Given the description of an element on the screen output the (x, y) to click on. 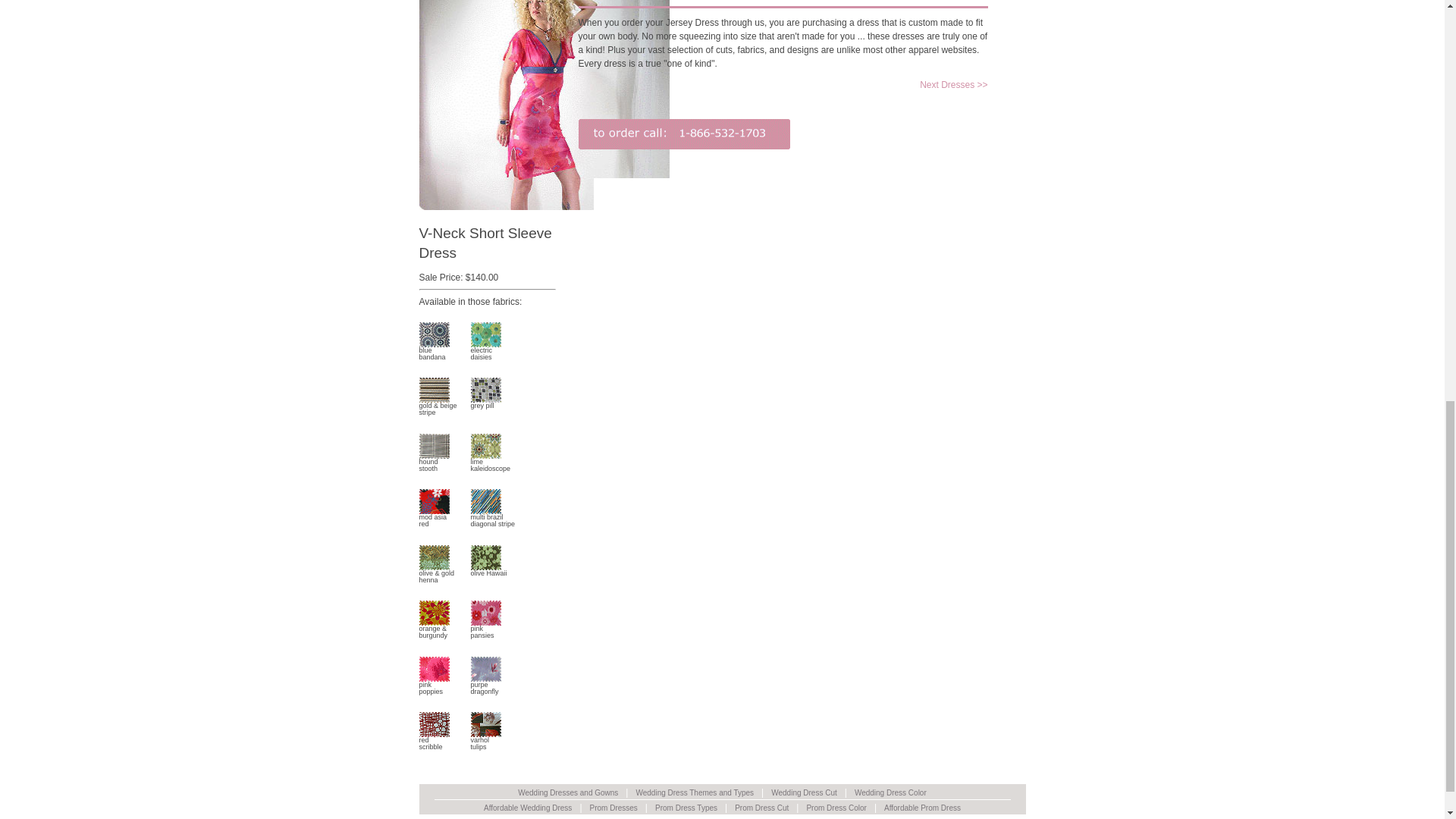
Wedding Dress Cut (803, 792)
Prom Dress Color (433, 685)
olive Hawaii (835, 807)
hound stooth (433, 462)
purpe dragonfly (488, 570)
mod asia red (433, 462)
Affordable Prom Dress (485, 685)
Prom Dresses (433, 741)
olive Hawaii (433, 517)
pink  poppies (492, 517)
